Given the description of an element on the screen output the (x, y) to click on. 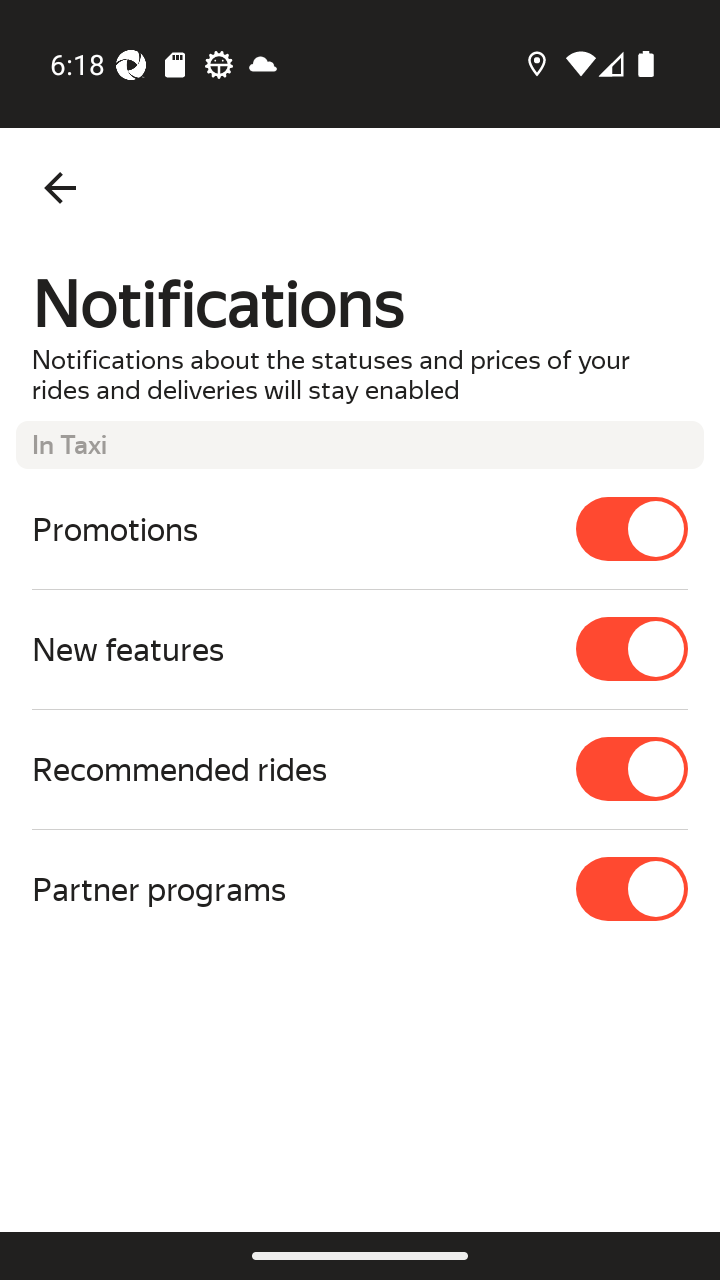
Back (60, 188)
Promotions (360, 528)
New features (360, 648)
Recommended rides (360, 769)
Partner programs (360, 888)
